Given the description of an element on the screen output the (x, y) to click on. 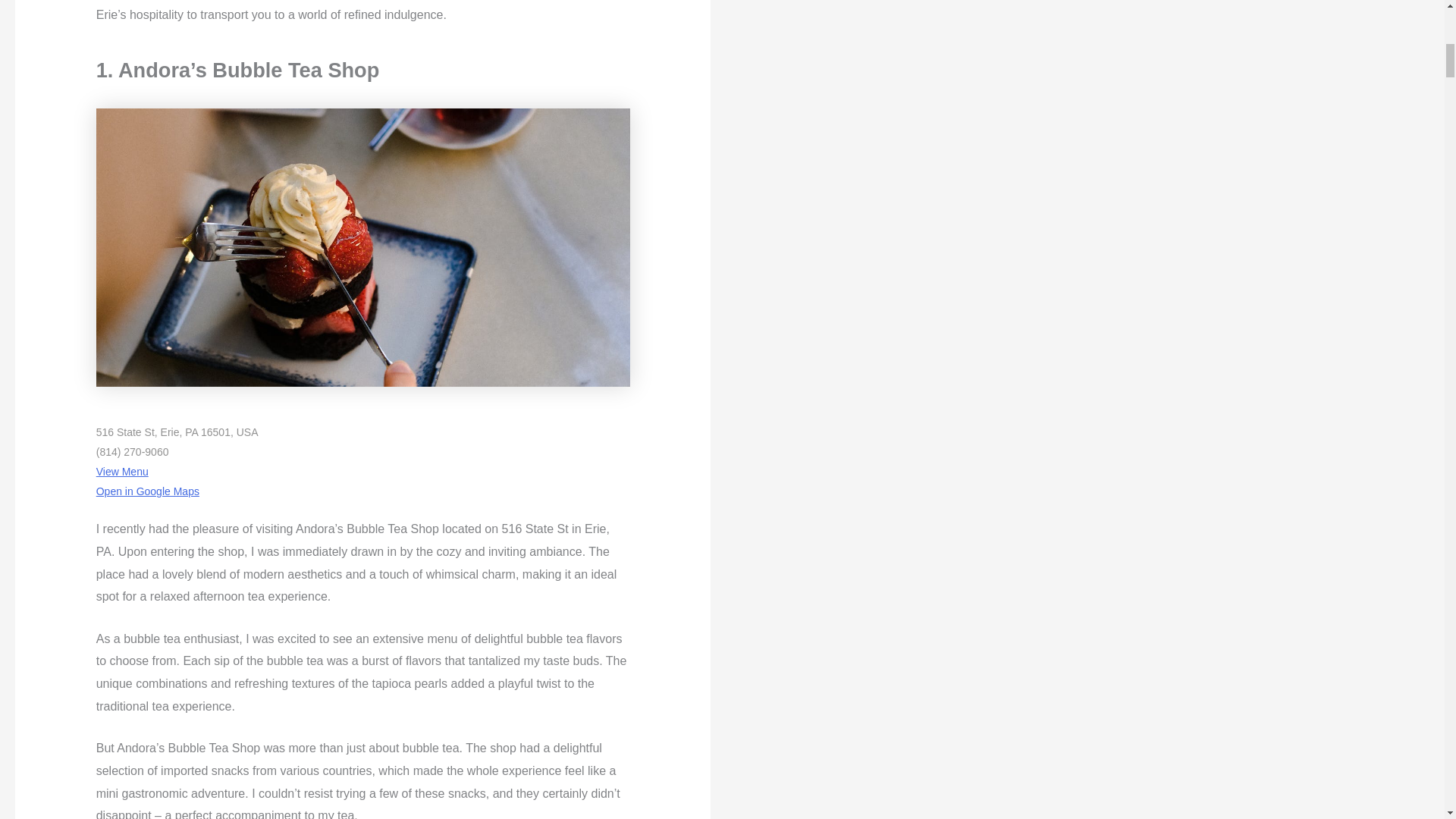
View Menu (122, 471)
Open in Google Maps (147, 491)
